Given the description of an element on the screen output the (x, y) to click on. 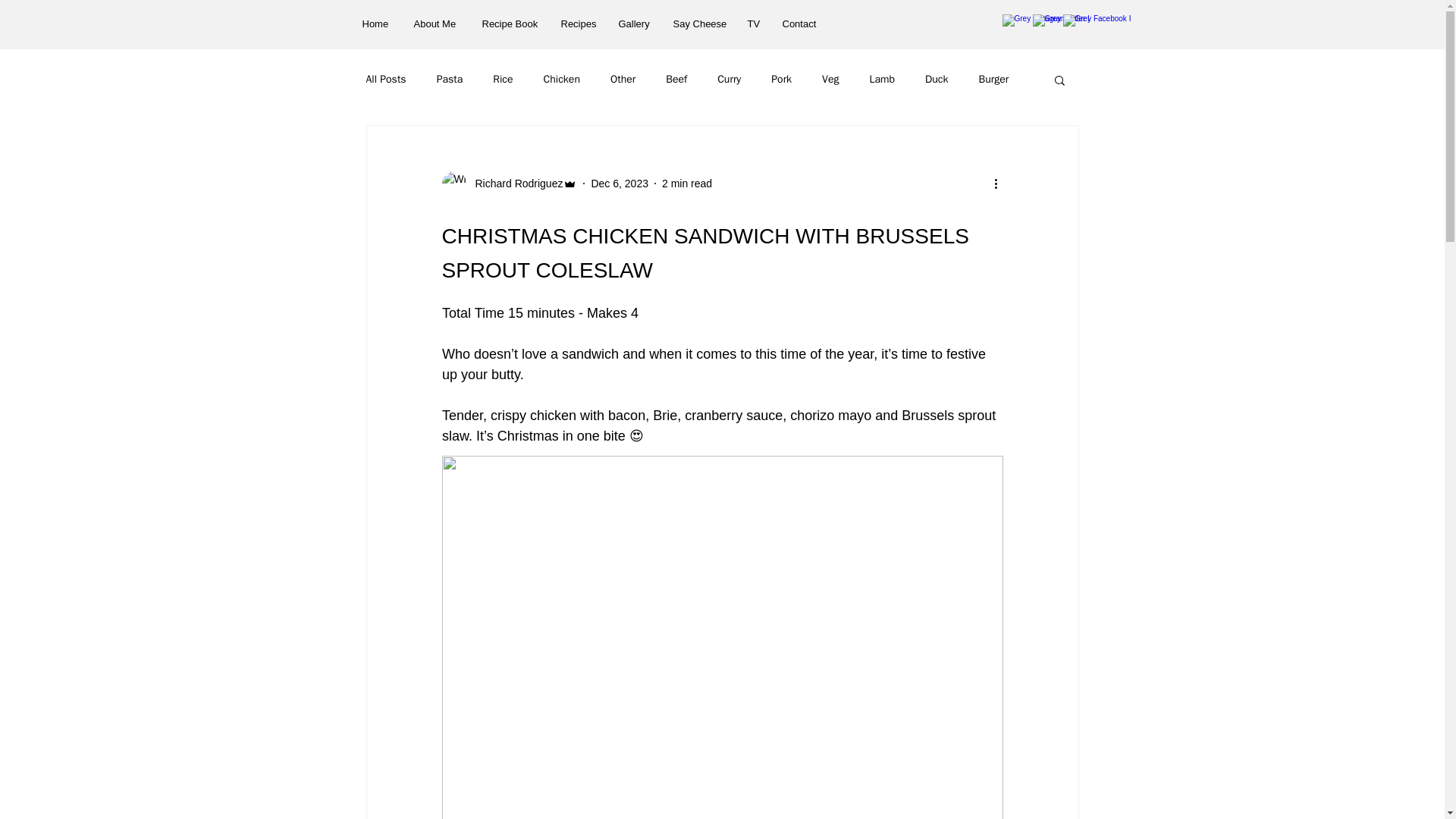
TV (752, 23)
Other (622, 79)
Burger (993, 79)
Duck (936, 79)
Gallery (634, 23)
2 min read (686, 183)
Veg (830, 79)
Contact (799, 23)
Pork (781, 79)
Home (375, 23)
